Given the description of an element on the screen output the (x, y) to click on. 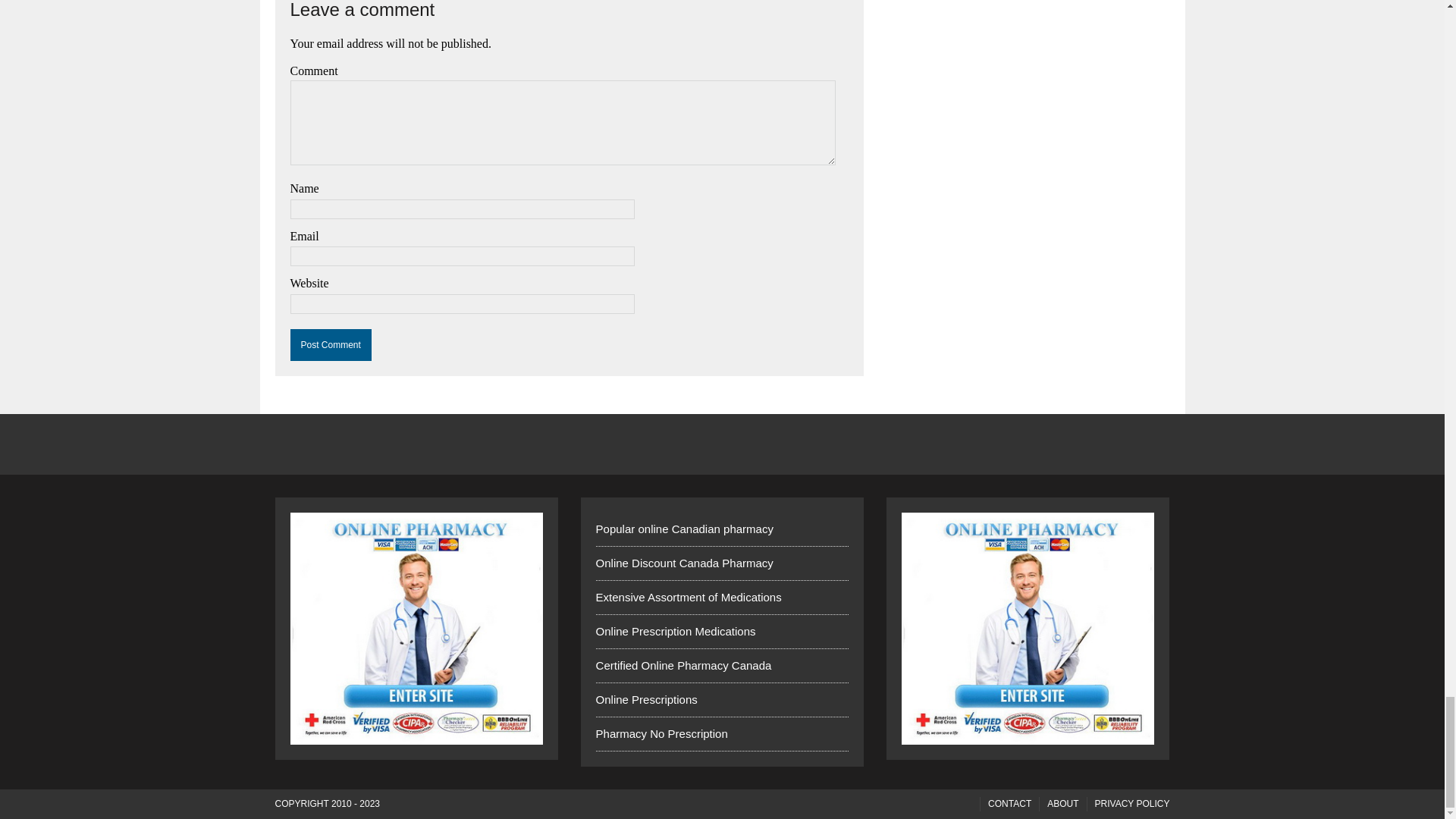
Post Comment (330, 345)
